Given the description of an element on the screen output the (x, y) to click on. 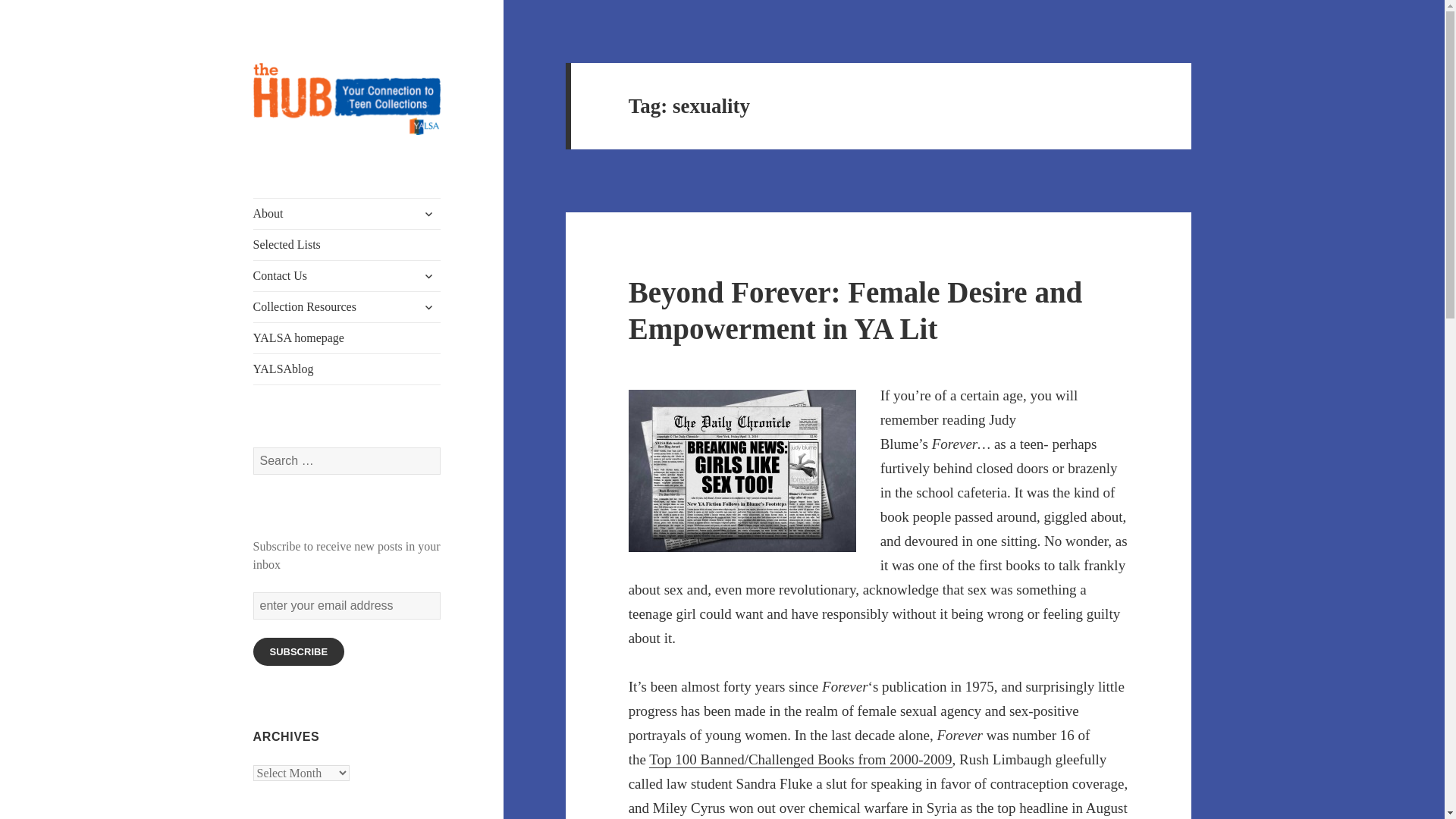
YALSA homepage (347, 337)
expand child menu (428, 213)
Selected Lists (347, 245)
SUBSCRIBE (299, 651)
expand child menu (428, 275)
Contact Us (347, 276)
The Hub (293, 159)
expand child menu (428, 306)
YALSAblog (347, 368)
Beyond Forever: Female Desire and Empowerment in YA Lit (855, 310)
Collection Resources (347, 306)
About (347, 214)
